Given the description of an element on the screen output the (x, y) to click on. 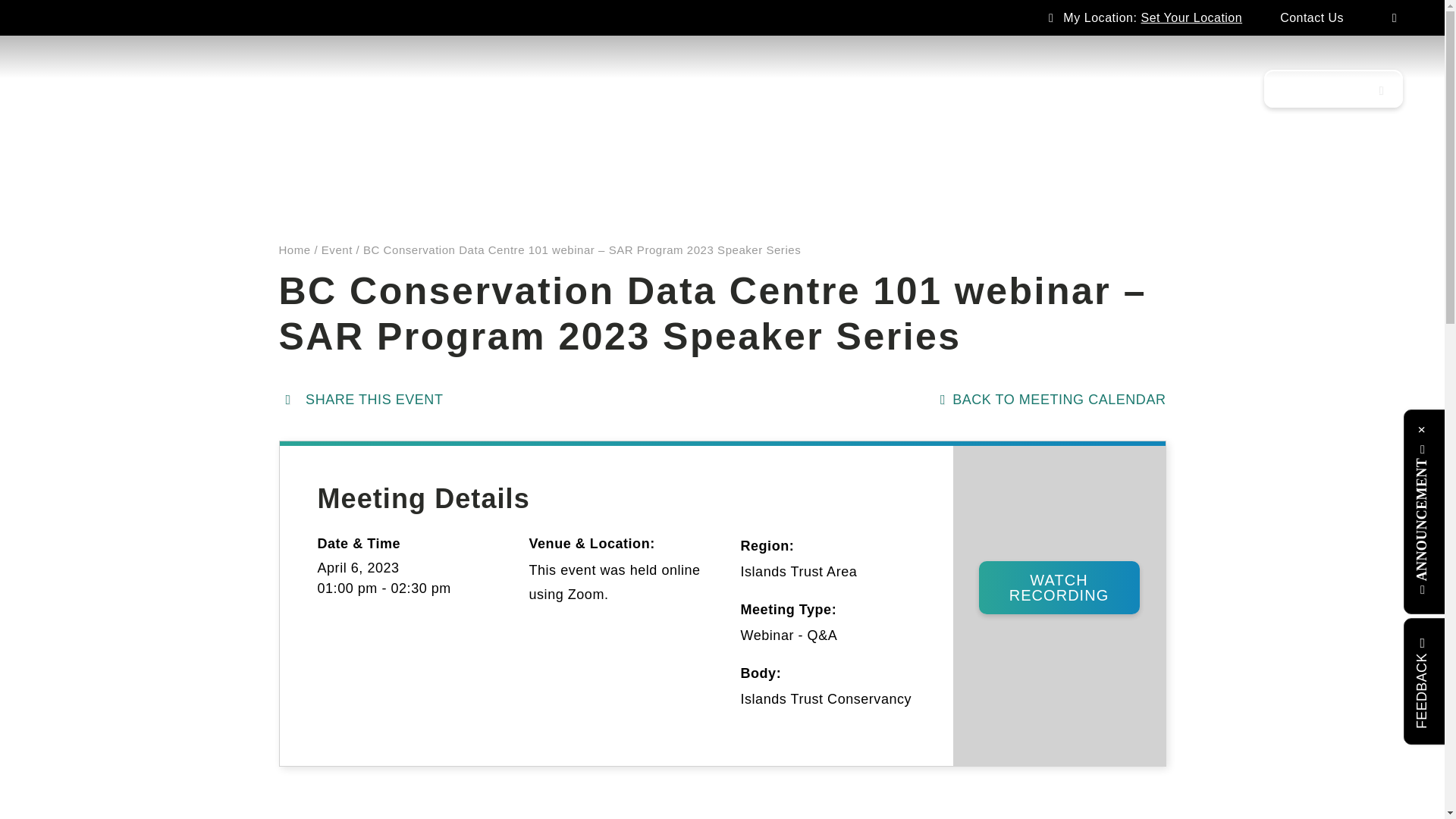
Contact Us (1311, 17)
Set Your Location (1192, 17)
